Given the description of an element on the screen output the (x, y) to click on. 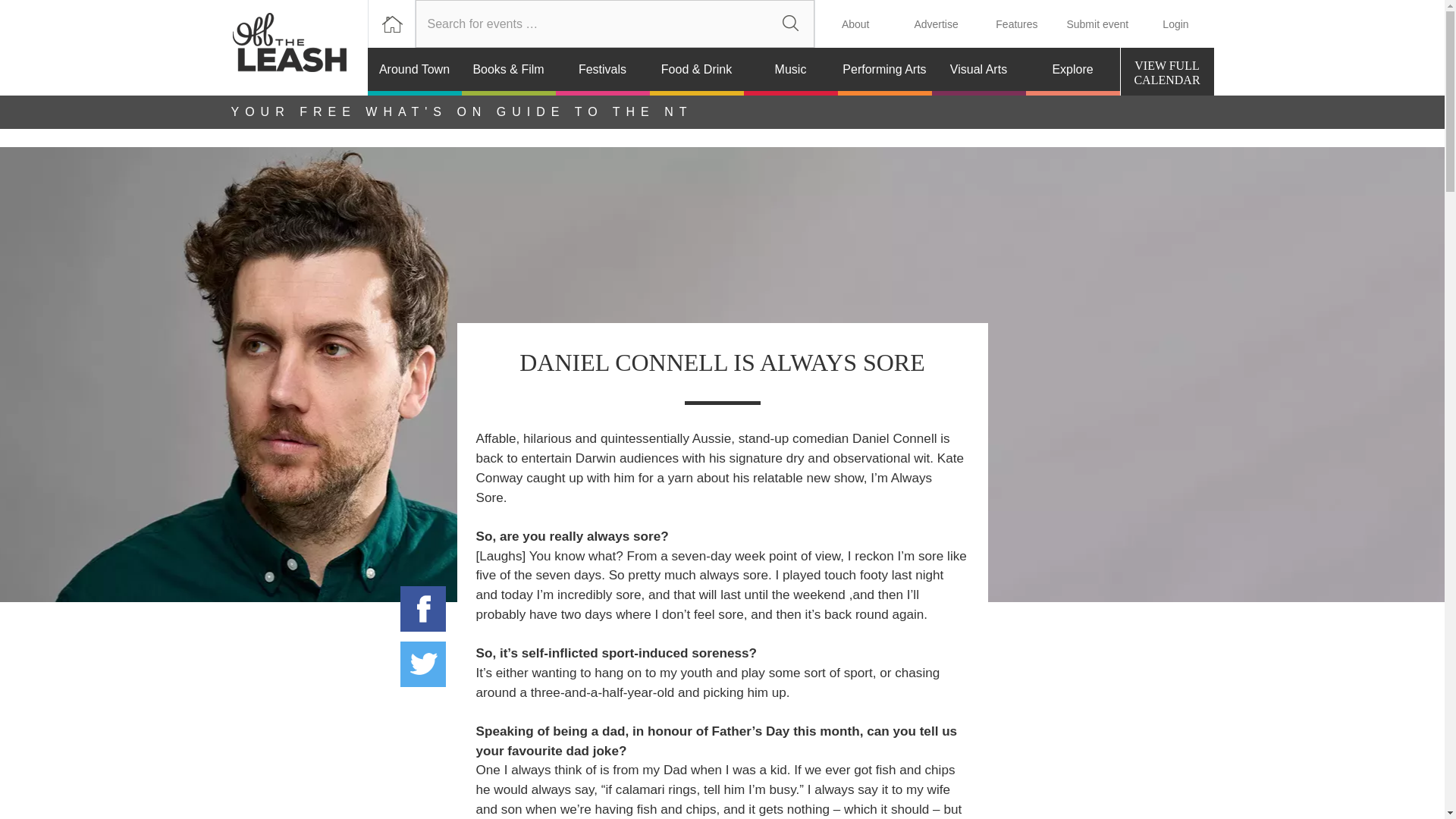
Festivals (601, 71)
About (855, 23)
Search (790, 23)
Visual Arts (978, 71)
Share on Facebook (422, 608)
Home (390, 23)
Features (1016, 23)
View all events (1167, 71)
Advertise (935, 23)
Home (298, 47)
Login (1174, 23)
Search (790, 23)
Search (790, 23)
Off The Leash (298, 47)
Tweet this on twitter (422, 664)
